Given the description of an element on the screen output the (x, y) to click on. 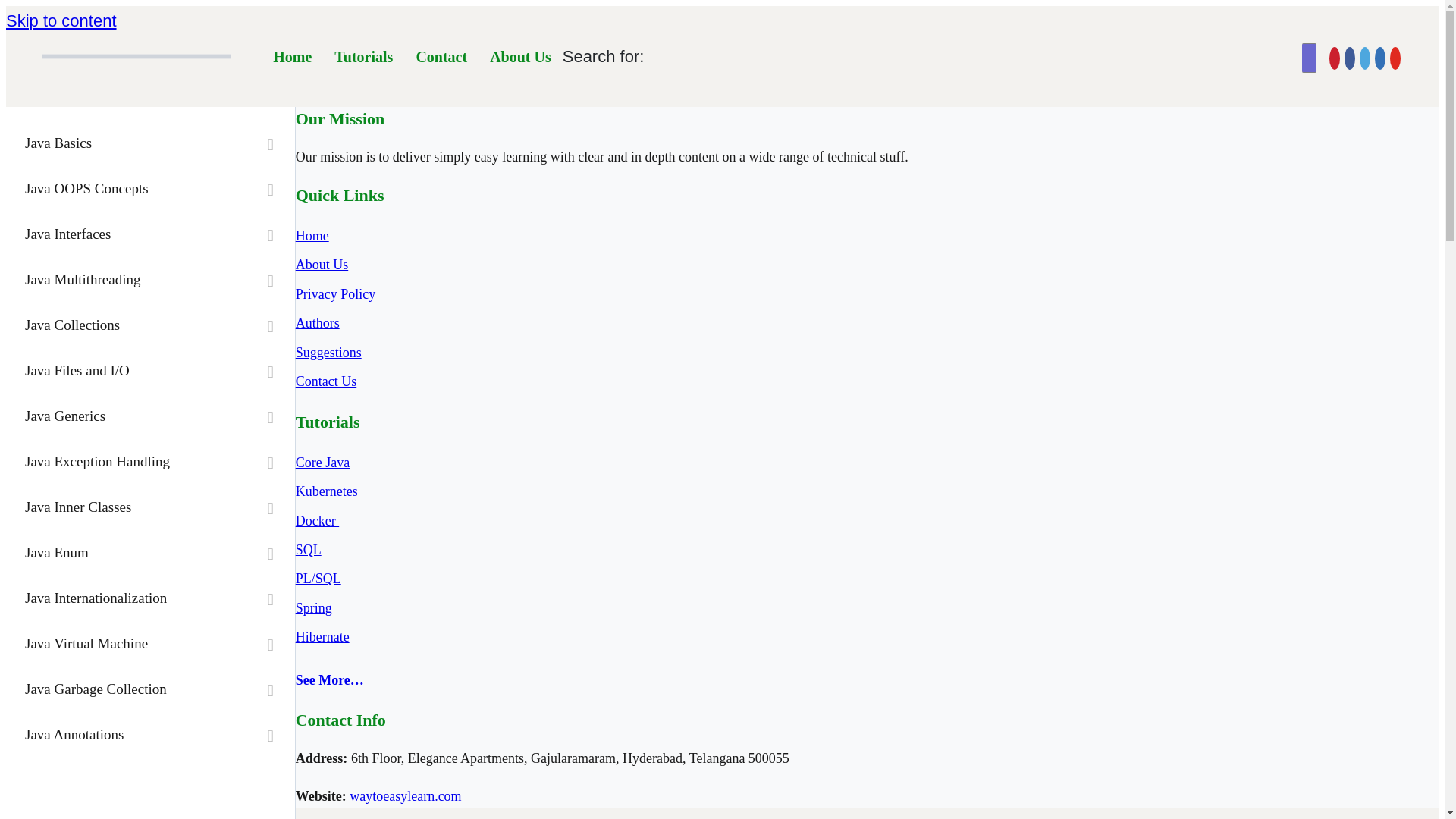
Contact (441, 56)
Skip to content (60, 20)
About Us (520, 56)
Search (21, 7)
Tutorials (363, 56)
Home (292, 56)
